Given the description of an element on the screen output the (x, y) to click on. 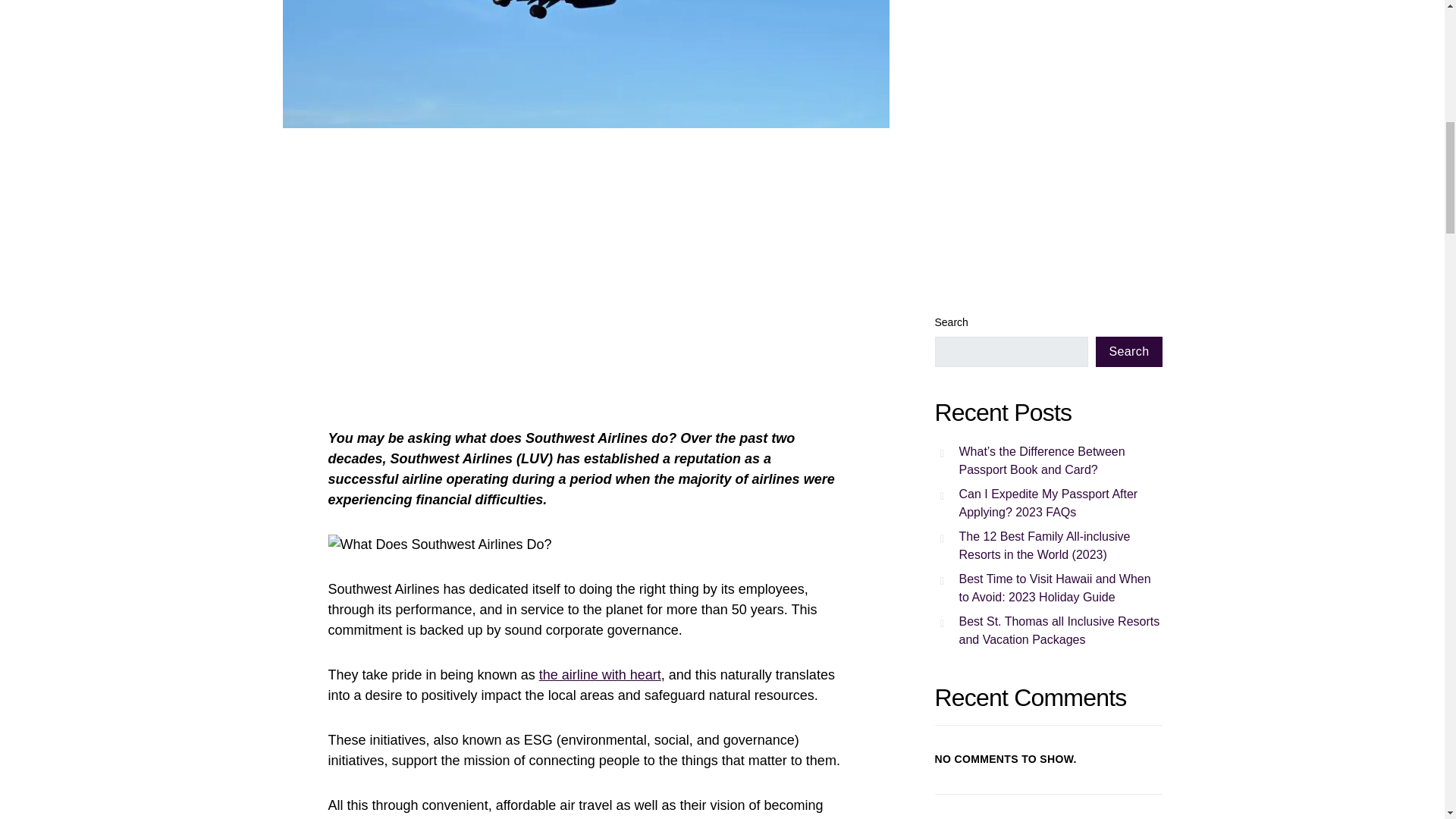
the airline with heart (599, 674)
